Given the description of an element on the screen output the (x, y) to click on. 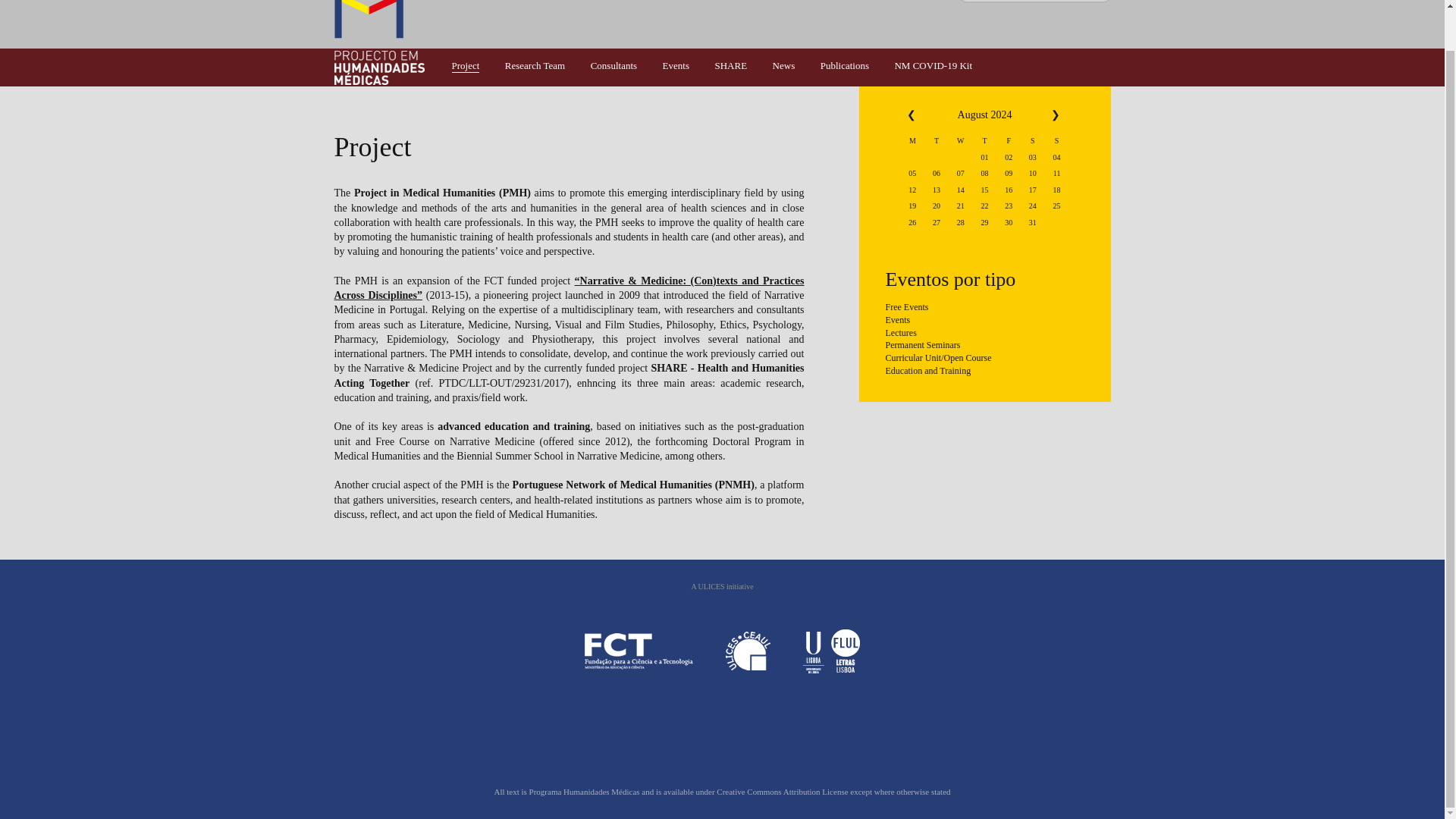
Consultants (614, 65)
Research Team (534, 65)
SHARE (730, 65)
Events (984, 321)
CEAUL (747, 650)
FCT (639, 651)
FLUL (831, 651)
News (783, 65)
Education and Training (984, 372)
Events (675, 65)
